Given the description of an element on the screen output the (x, y) to click on. 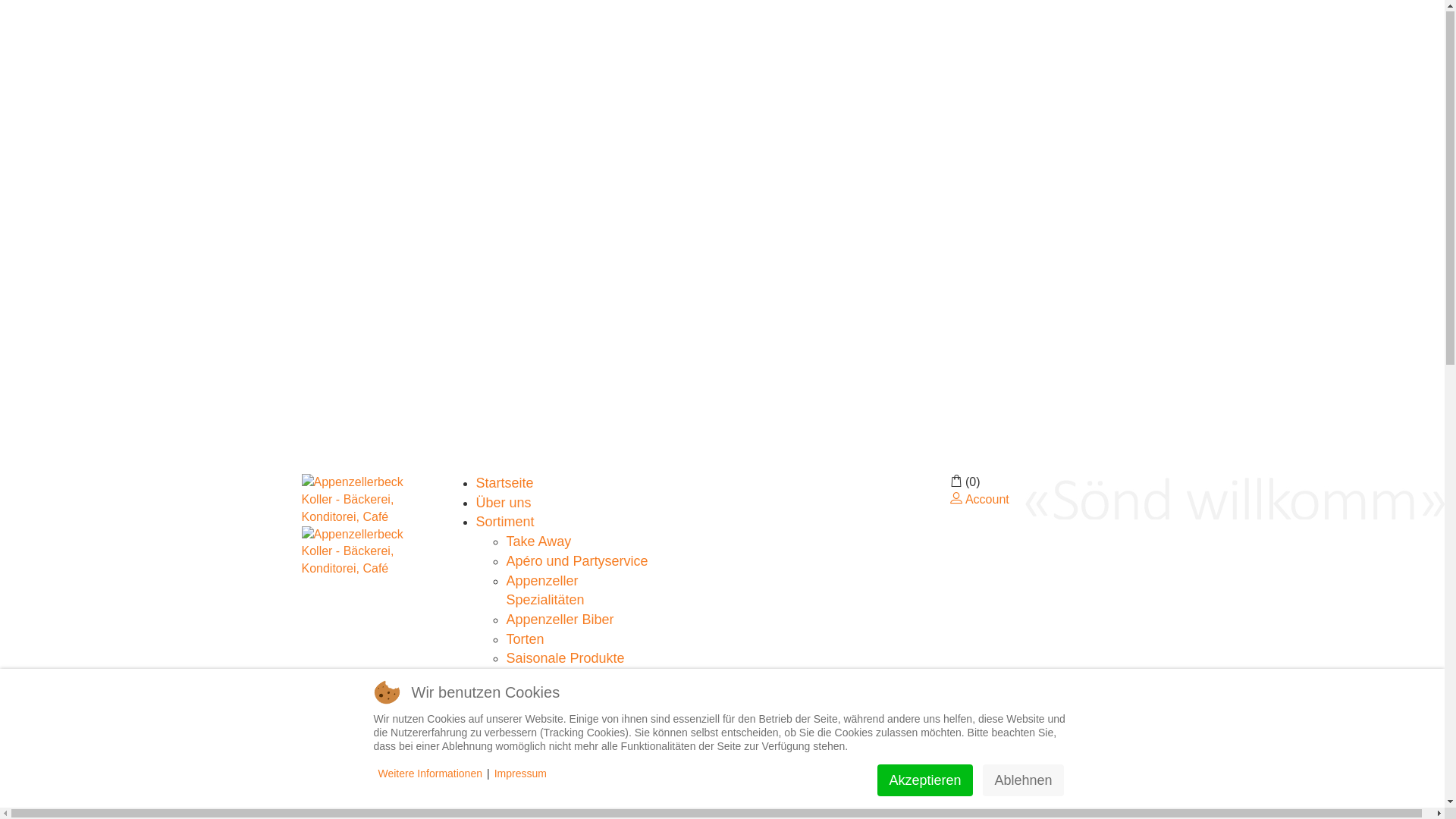
Biber Back-Event Element type: text (558, 679)
Saisonale Produkte Element type: text (565, 659)
Appenzeller Biber Element type: text (560, 757)
Shop Element type: text (492, 737)
Appenzeller Bild-Biber Element type: text (573, 776)
Take Away Element type: text (538, 542)
Kundenkarte/Geschenkkarte Element type: text (592, 698)
Account Element type: text (978, 500)
Appenzeller Foto-Biber Element type: text (576, 795)
Weitere Informationen Element type: text (429, 774)
Ablehnen Element type: text (1022, 781)
Startseite Element type: text (504, 484)
Standorte Element type: text (505, 717)
Torten Element type: text (525, 640)
Sortiment Element type: text (505, 522)
Appenzeller Biber Element type: text (560, 620)
Akzeptieren Element type: text (924, 781)
Impressum Element type: text (520, 774)
